Given the description of an element on the screen output the (x, y) to click on. 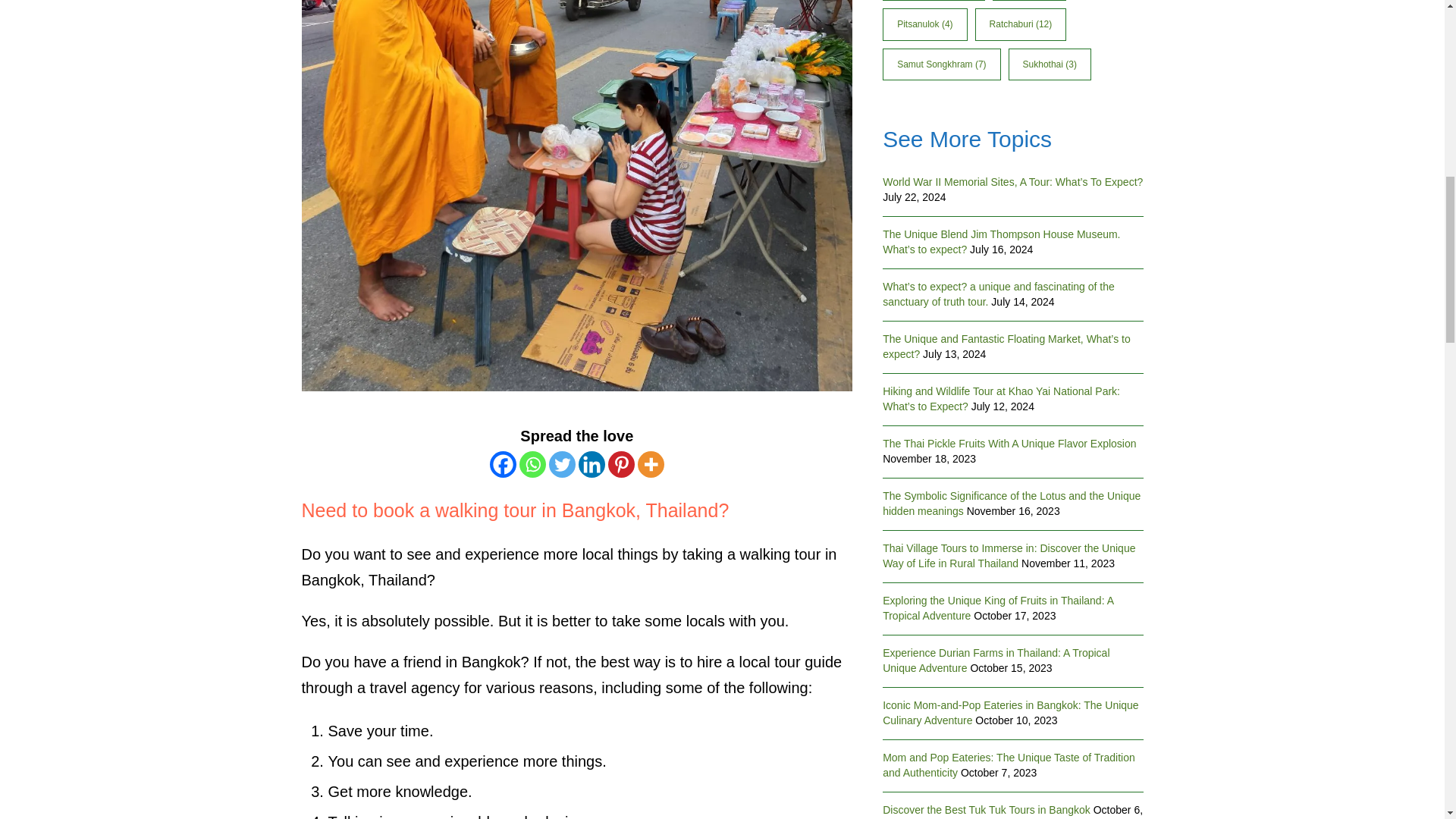
Facebook (502, 464)
Twitter (561, 464)
More (650, 464)
Linkedin (591, 464)
Pinterest (621, 464)
Whatsapp (532, 464)
